Given the description of an element on the screen output the (x, y) to click on. 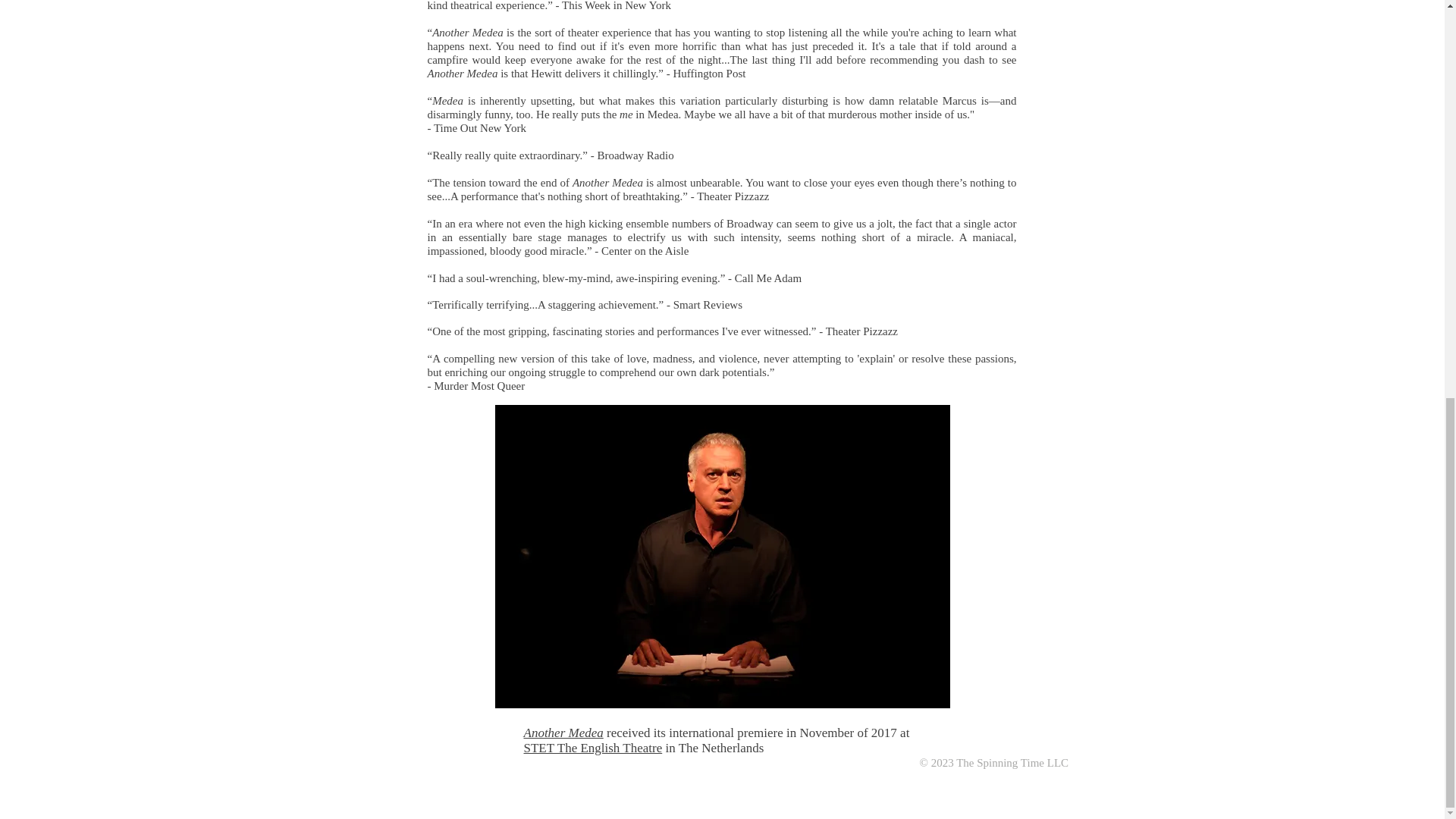
STET The English Theatre (592, 748)
Another Medea (562, 732)
